Given the description of an element on the screen output the (x, y) to click on. 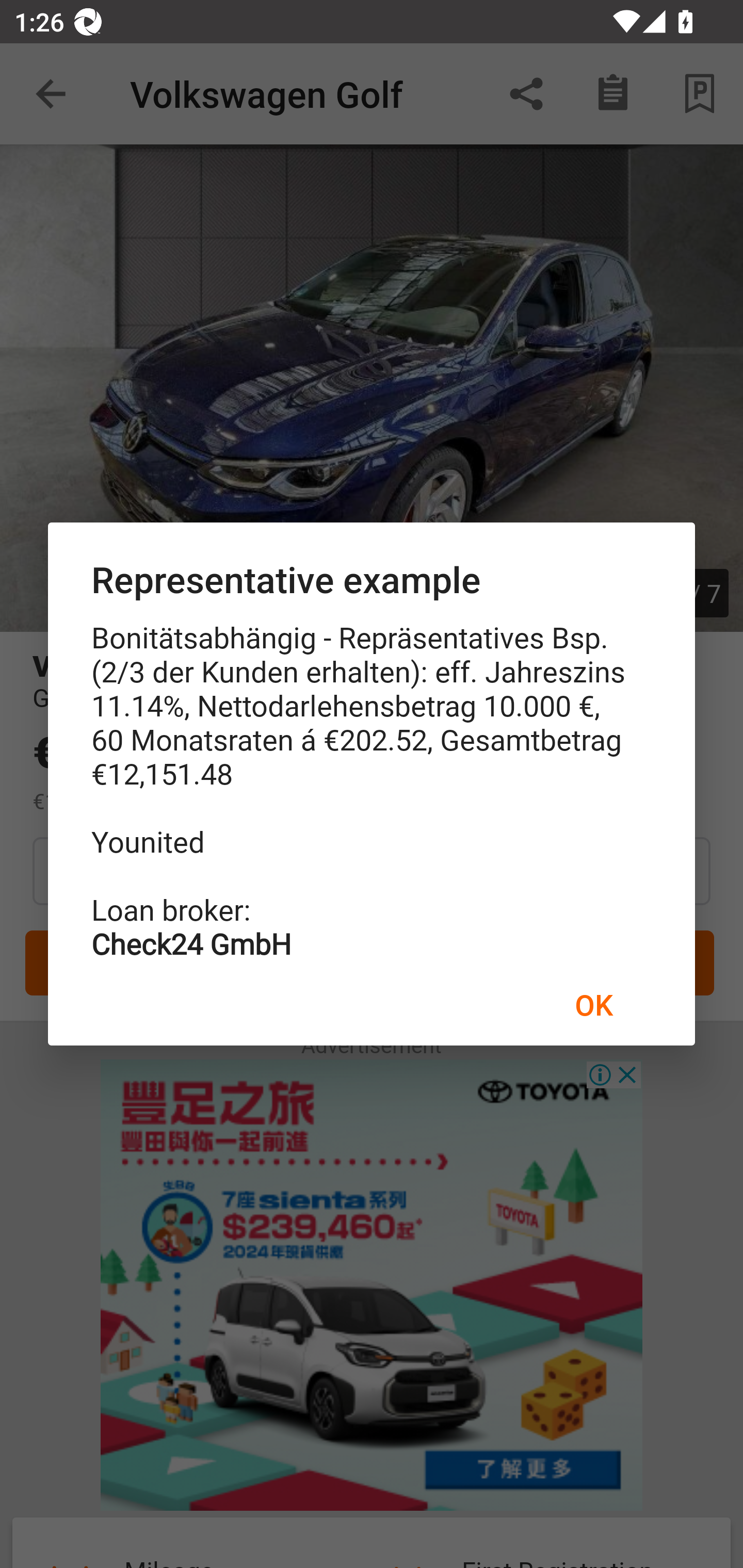
OK (593, 1004)
